Given the description of an element on the screen output the (x, y) to click on. 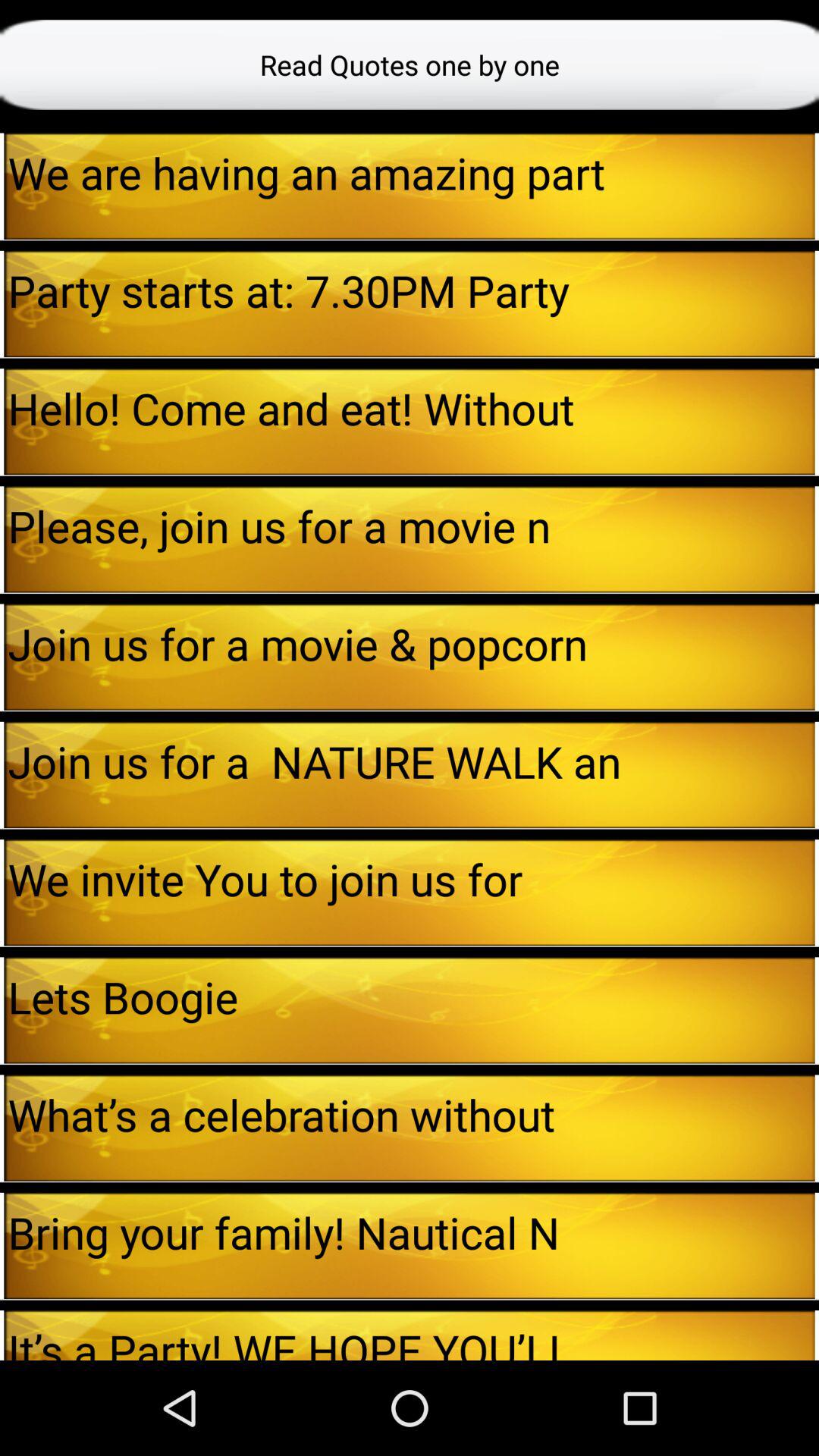
launch the icon to the right of join us for (817, 774)
